Given the description of an element on the screen output the (x, y) to click on. 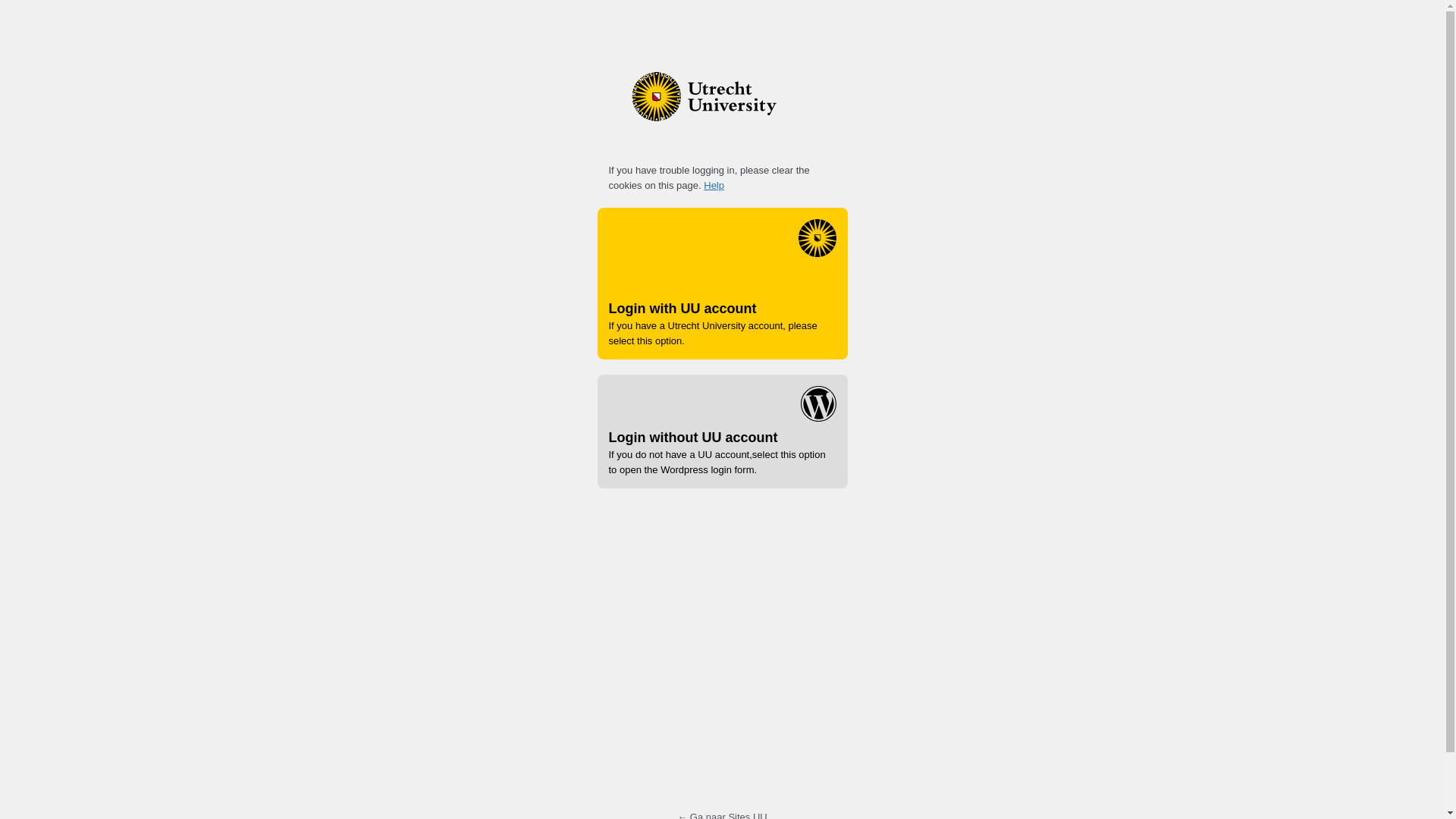
Inloggen (788, 657)
Mogelijk gemaakt door WordPress (721, 108)
Help (713, 184)
